Given the description of an element on the screen output the (x, y) to click on. 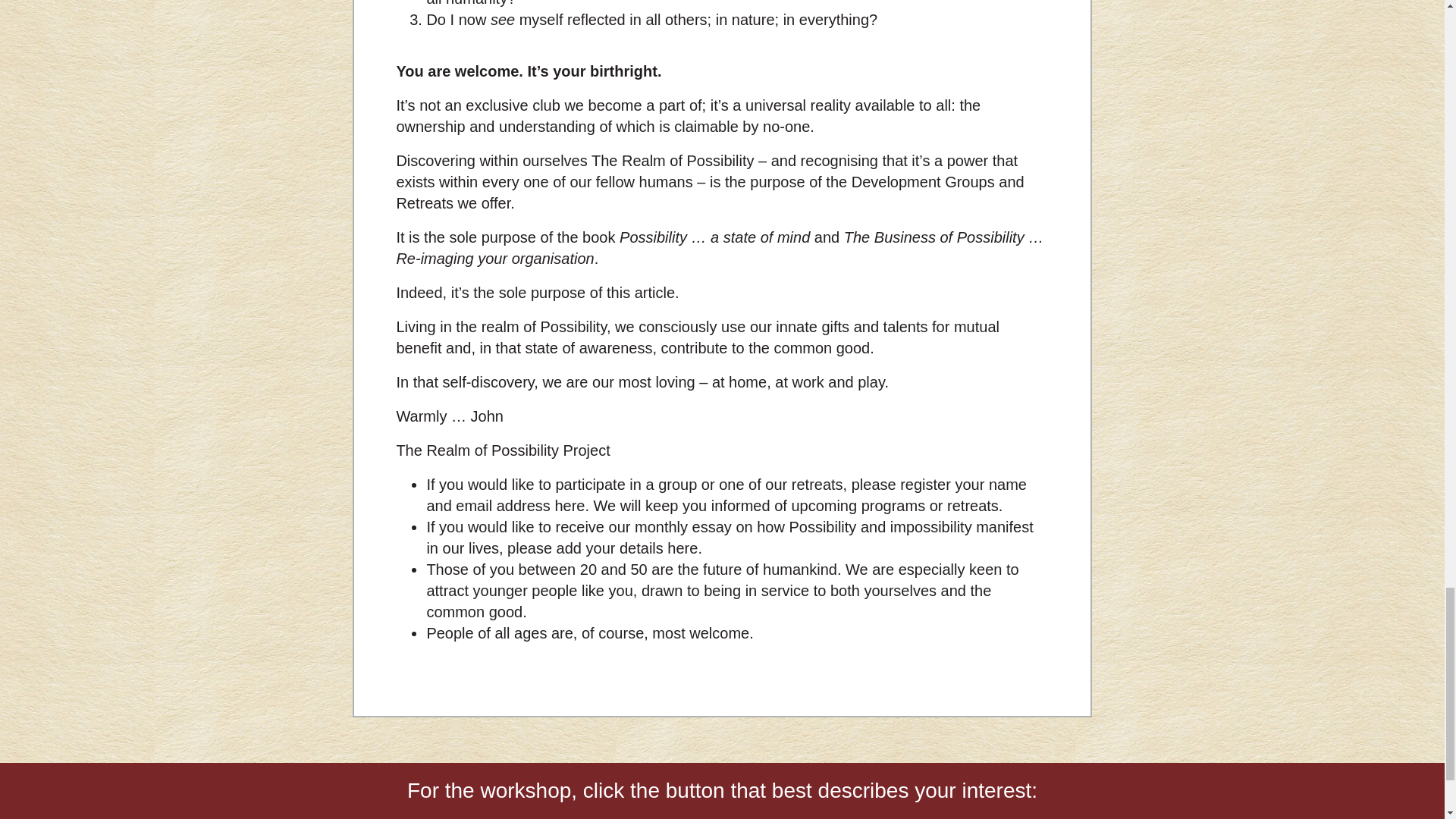
GOVERNMENT AGENCY (653, 817)
PRIVATE SECTOR (1008, 817)
WORK AT N.G.O. (844, 817)
PERSONAL INQUIRY (446, 817)
